Given the description of an element on the screen output the (x, y) to click on. 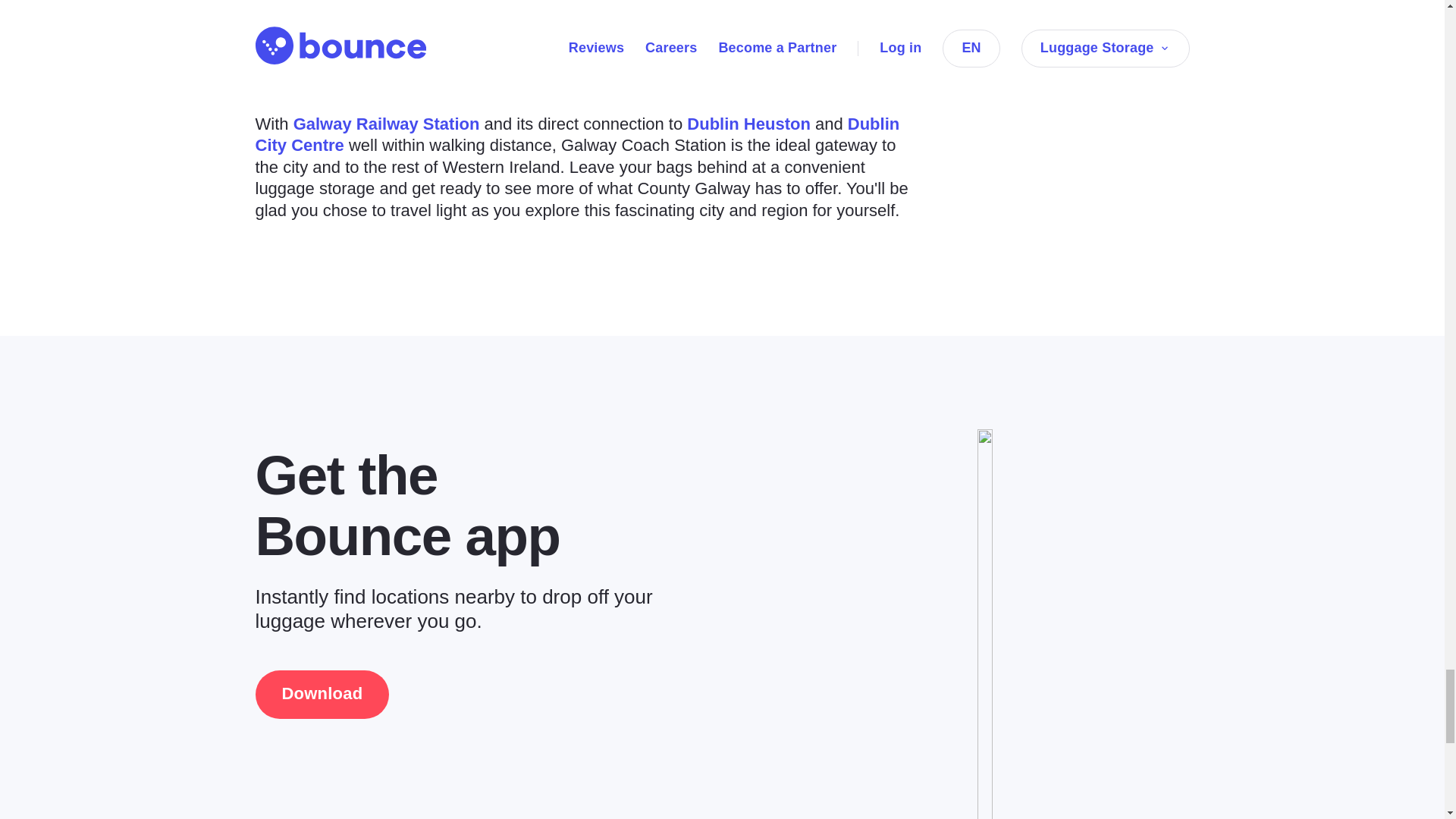
Galway Railway Station (387, 123)
Download (321, 694)
Dublin City Centre (576, 134)
Dublin Heuston (748, 123)
